Given the description of an element on the screen output the (x, y) to click on. 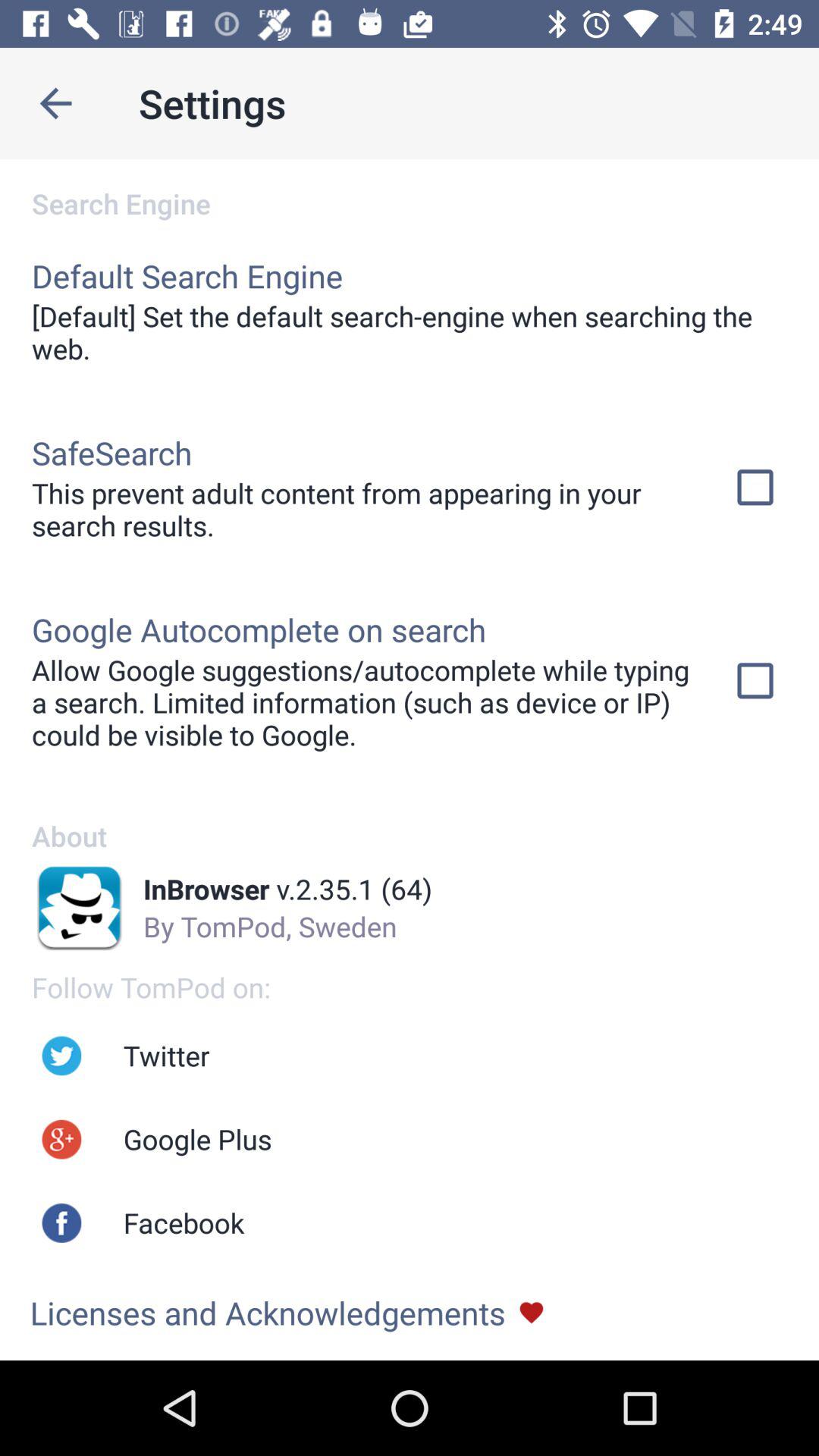
go back (55, 103)
